Given the description of an element on the screen output the (x, y) to click on. 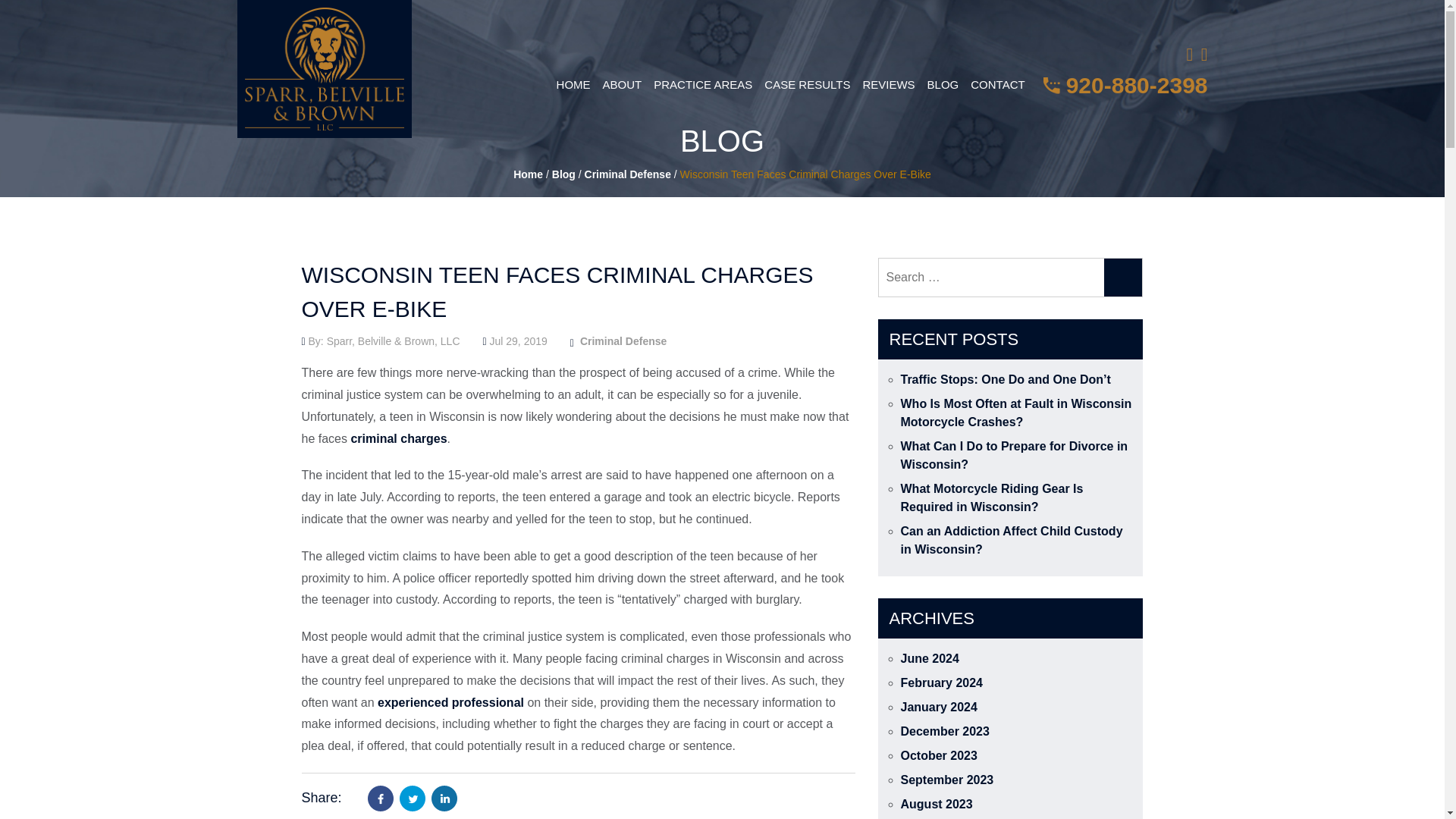
REVIEWS (888, 84)
What Can I Do to Prepare for Divorce in Wisconsin? (1014, 454)
HOME (573, 84)
ABOUT (621, 84)
February 2024 (942, 682)
Go to Blog. (563, 174)
Home (528, 174)
Who Is Most Often at Fault in Wisconsin Motorcycle Crashes? (1016, 412)
Search (1122, 277)
Can an Addiction Affect Child Custody in Wisconsin? (1011, 540)
Twitter (412, 798)
LinkedIn (444, 798)
CONTACT (996, 84)
Criminal Defense (622, 340)
Go to the Criminal Defense category archives. (628, 174)
